Given the description of an element on the screen output the (x, y) to click on. 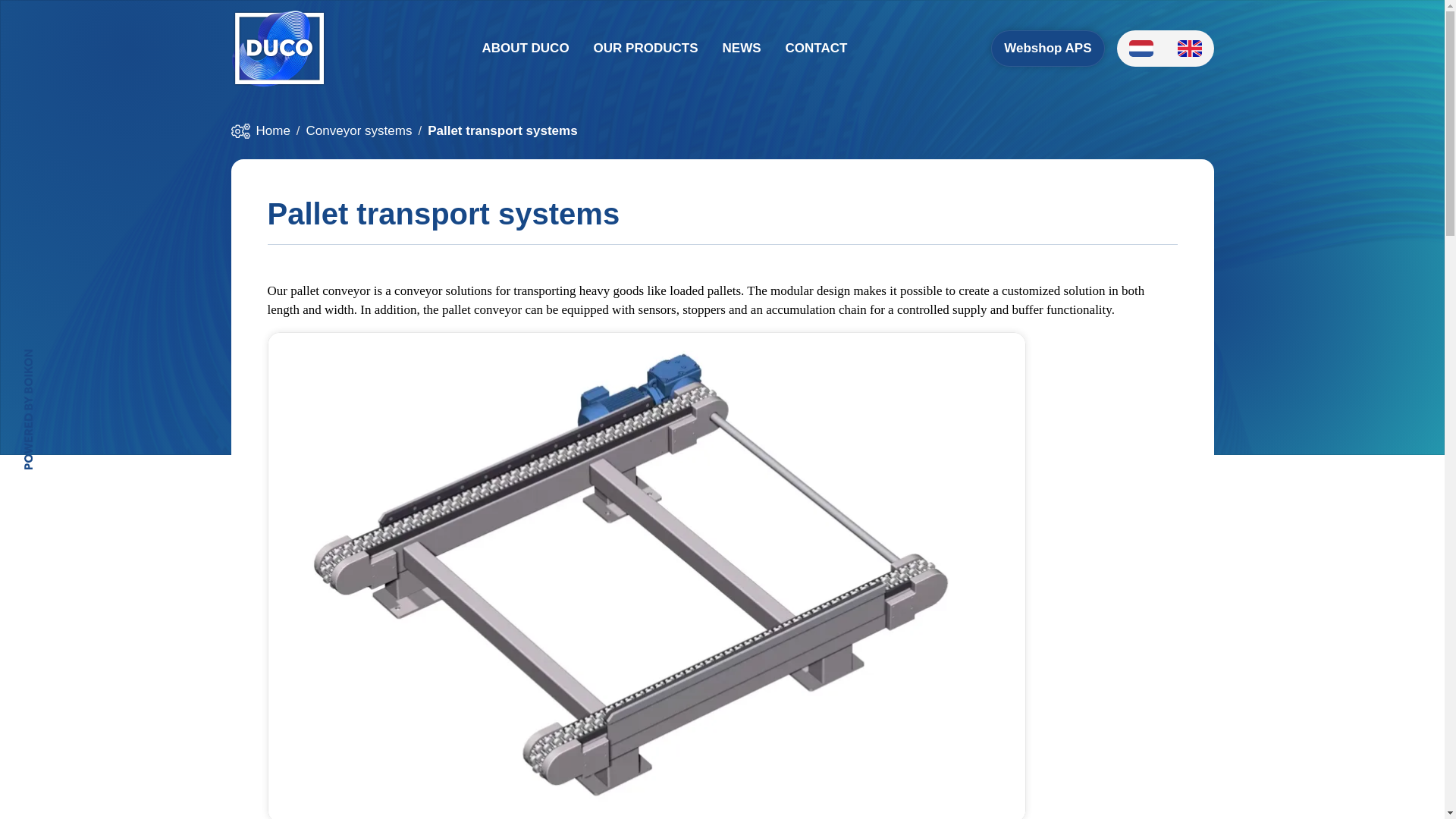
CONTACT (816, 48)
NEWS (741, 48)
Our products (646, 48)
English (1188, 48)
Home (273, 130)
Conveyor systems (359, 130)
News (741, 48)
ABOUT DUCO (525, 48)
Webshop APS (1047, 48)
